Given the description of an element on the screen output the (x, y) to click on. 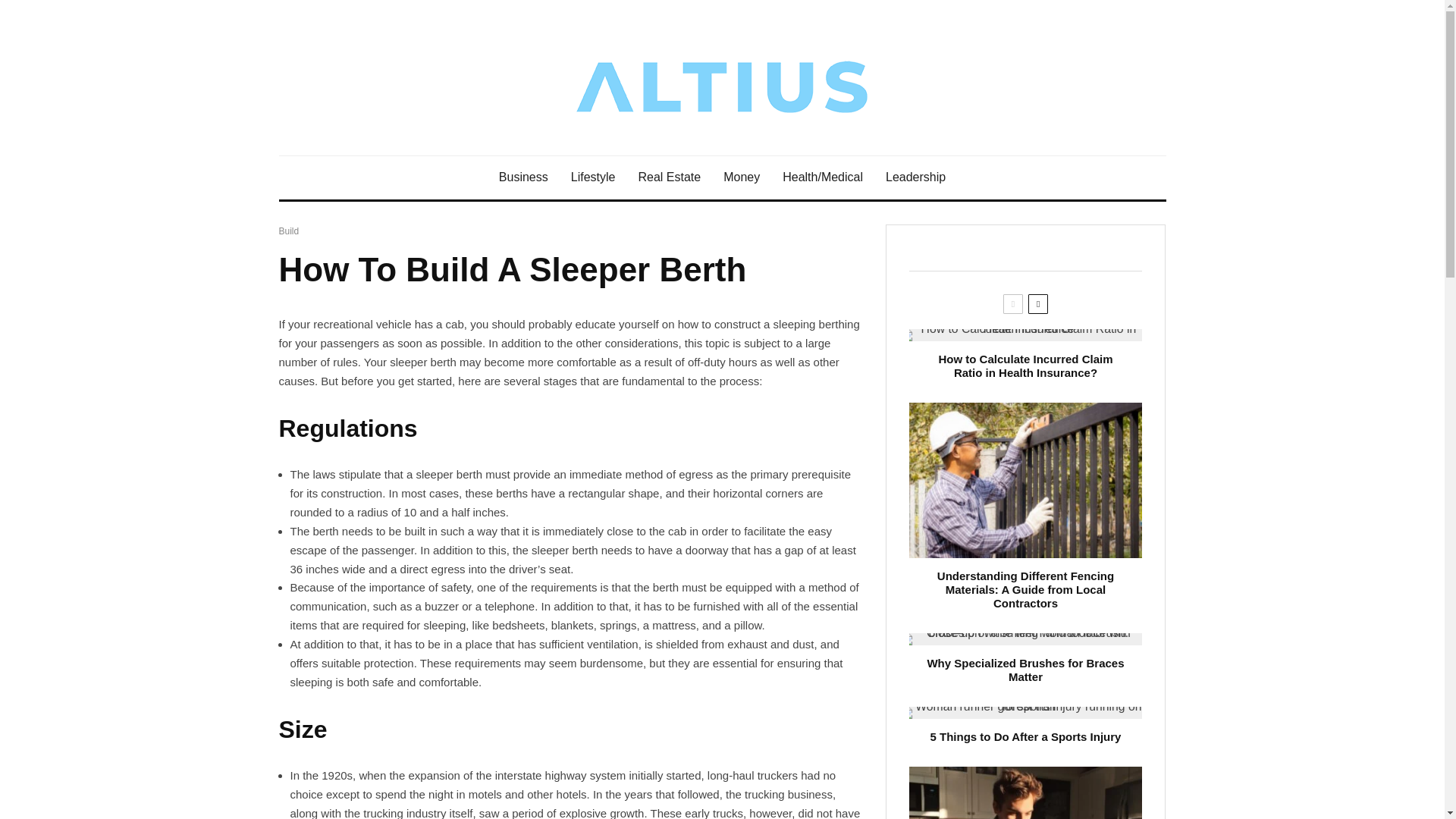
Money (741, 177)
Lifestyle (593, 177)
Real Estate (668, 177)
Business (523, 177)
